Given the description of an element on the screen output the (x, y) to click on. 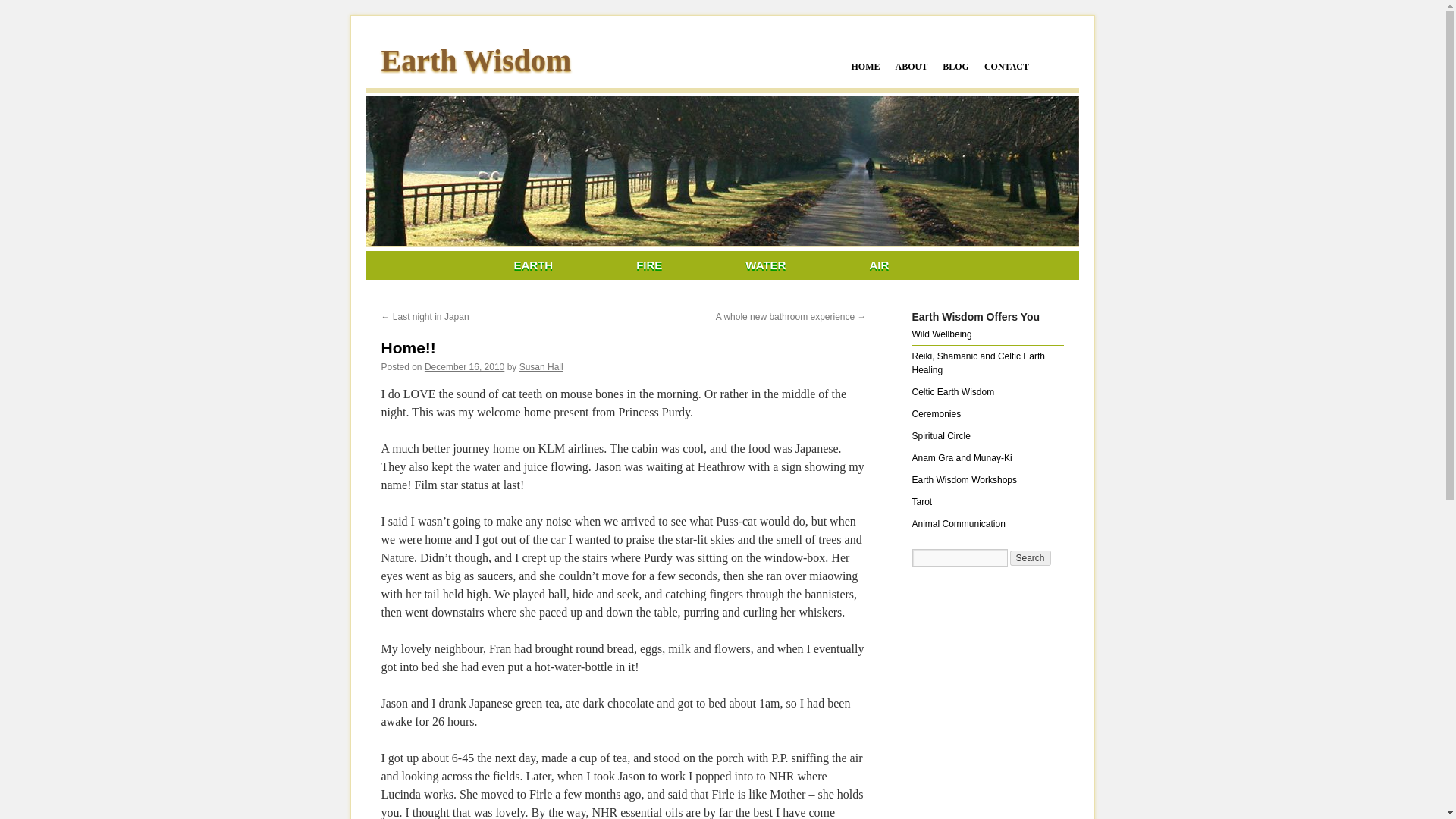
Fire (648, 265)
Animal Communication (957, 523)
Susan Hall (541, 366)
Ceremonies (935, 413)
Search (1030, 557)
Reiki and Energy Healing (977, 363)
Reiki, Shamanic and Celtic Earth Healing (977, 363)
Earth (534, 265)
View all posts by Susan Hall (541, 366)
Spiritual Circle (940, 435)
